Given the description of an element on the screen output the (x, y) to click on. 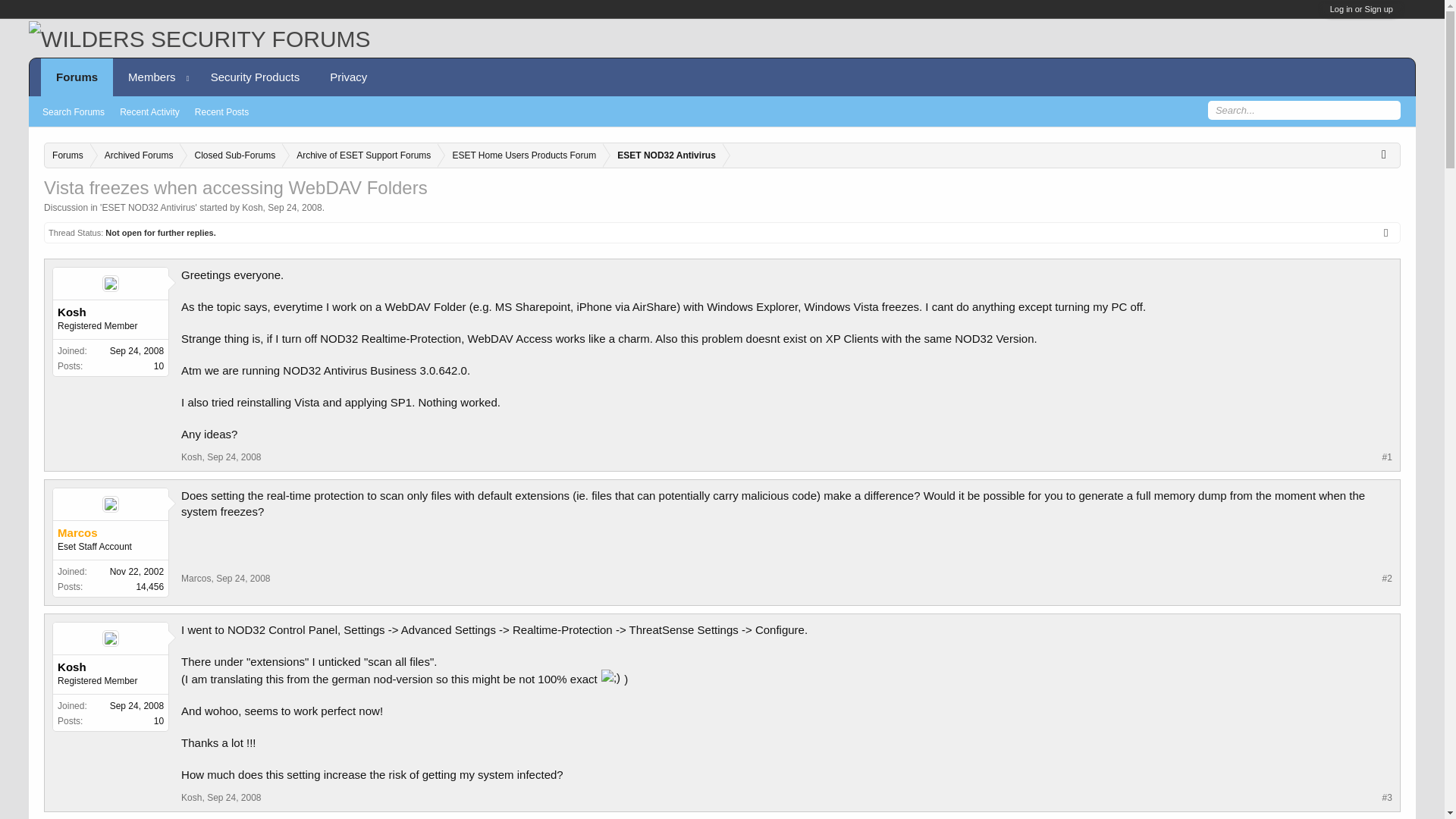
ESET NOD32 Antivirus (148, 207)
Archived Forums (135, 155)
Permalink (233, 457)
Locked (1390, 232)
Kosh (251, 207)
ESET NOD32 Antivirus (663, 155)
Sep 24, 2008 (294, 207)
Sep 24, 2008 (233, 457)
Open quick navigation (1387, 153)
10 (158, 366)
